Given the description of an element on the screen output the (x, y) to click on. 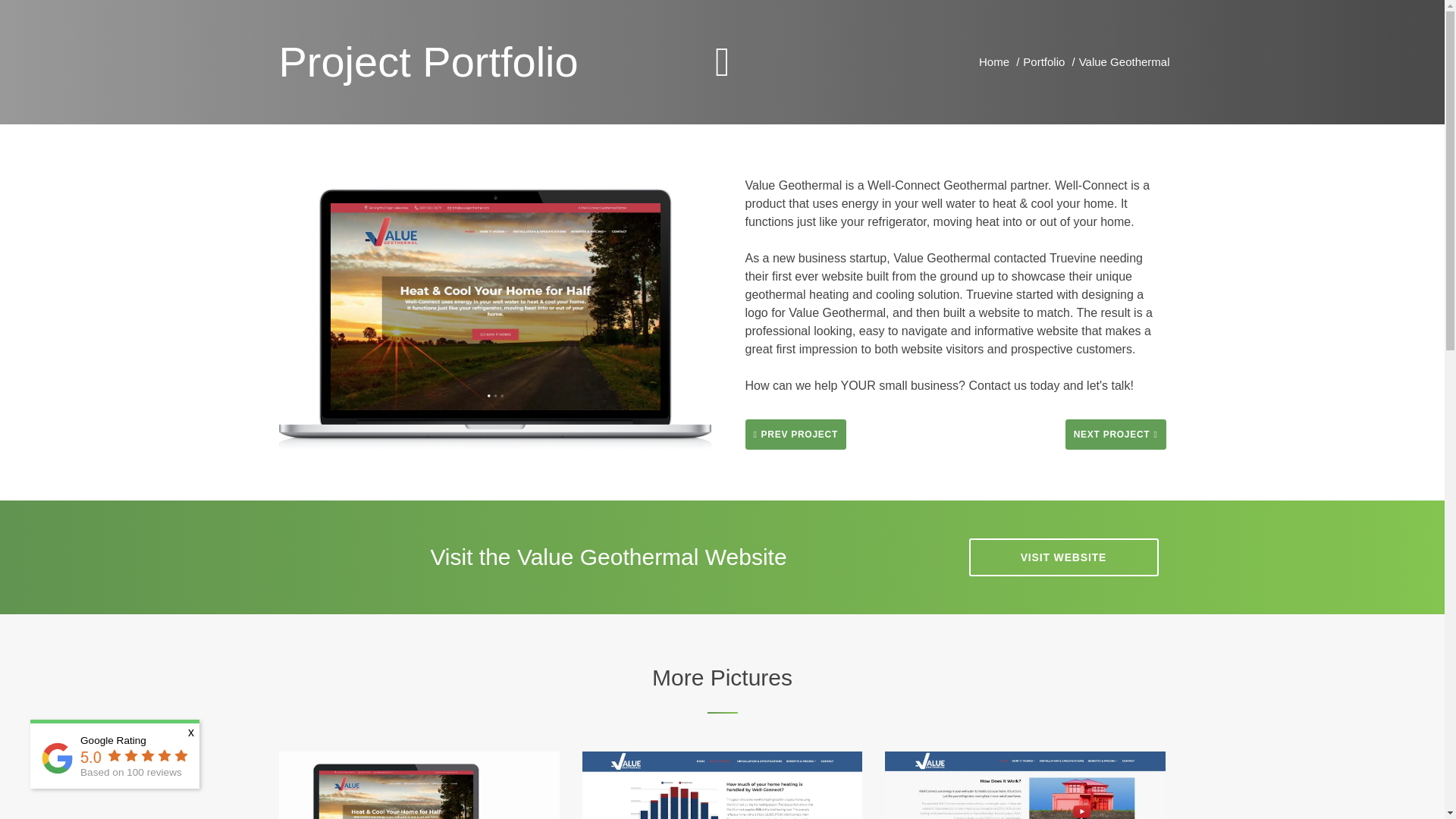
VISIT WEBSITE (133, 755)
Home (1063, 557)
Portfolio (993, 61)
NEXT PROJECT (1043, 61)
PREV PROJECT (1115, 434)
